Given the description of an element on the screen output the (x, y) to click on. 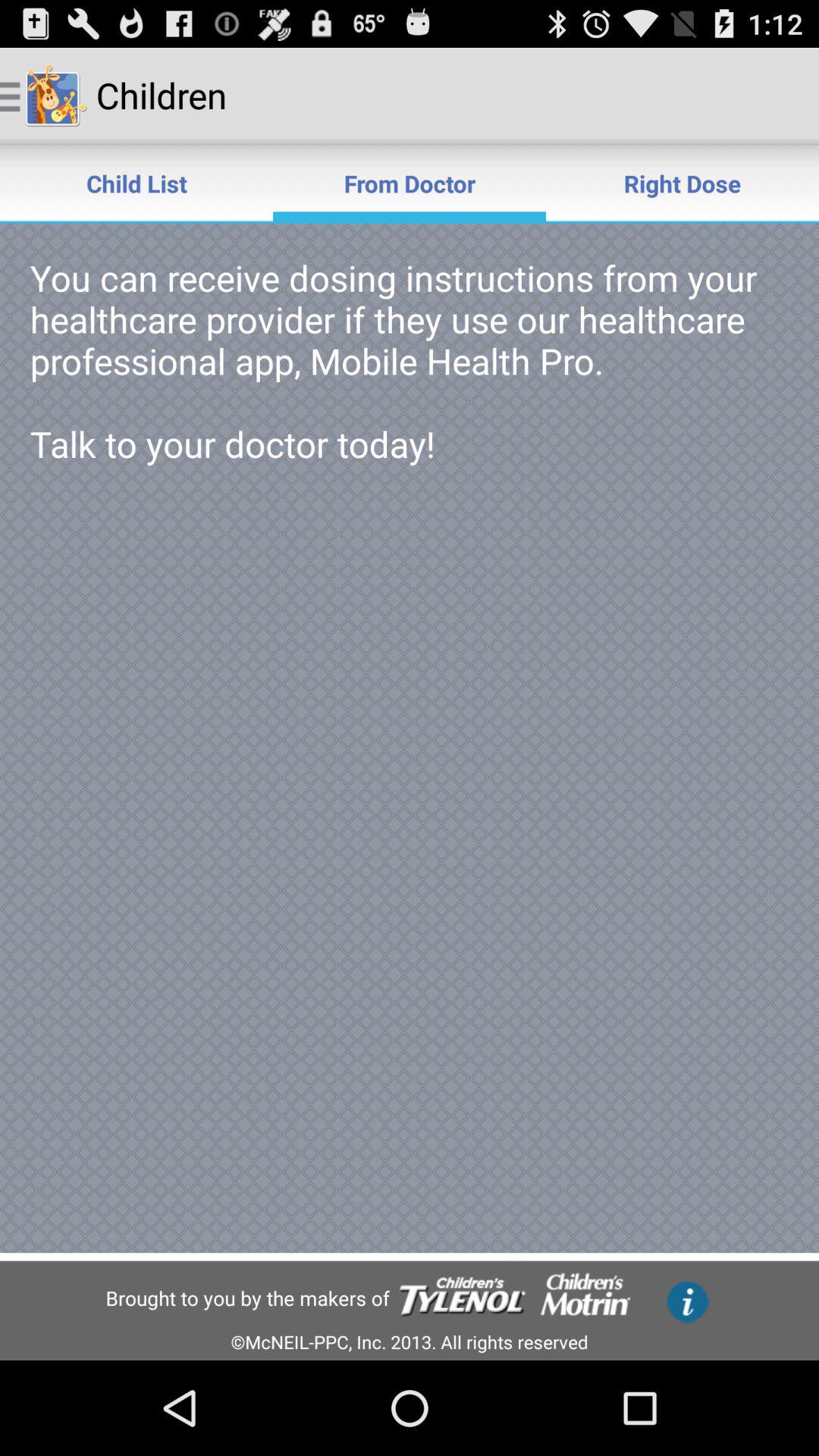
open icon next to from doctor (136, 183)
